Given the description of an element on the screen output the (x, y) to click on. 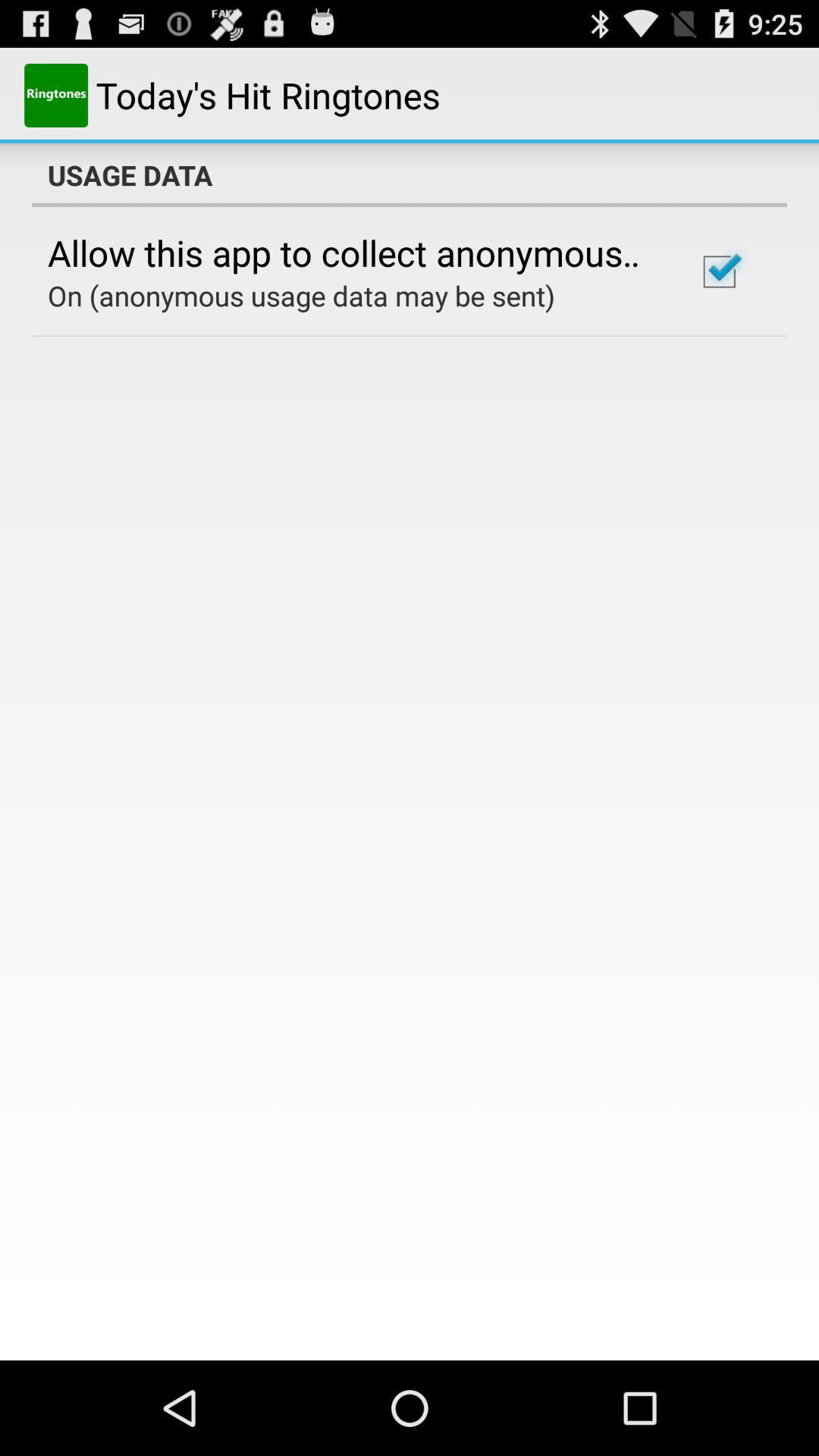
open icon next to allow this app (719, 271)
